Given the description of an element on the screen output the (x, y) to click on. 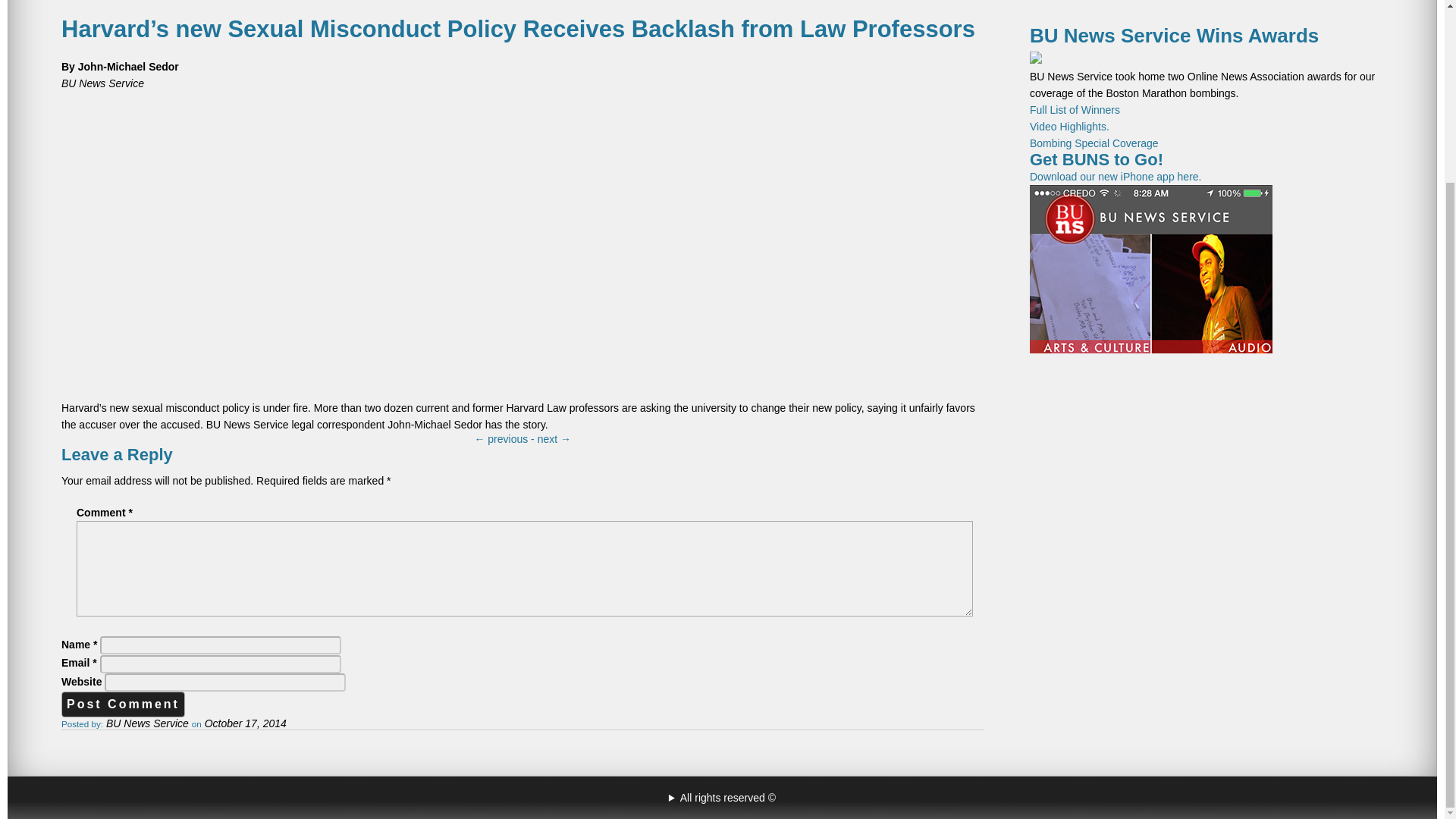
Video Highlights. (1069, 126)
Full List of Winners (1074, 110)
Bombing Special Coverage (1093, 143)
Post Comment (122, 704)
Download our new iPhone app here. (1150, 262)
Post Comment (122, 704)
